Given the description of an element on the screen output the (x, y) to click on. 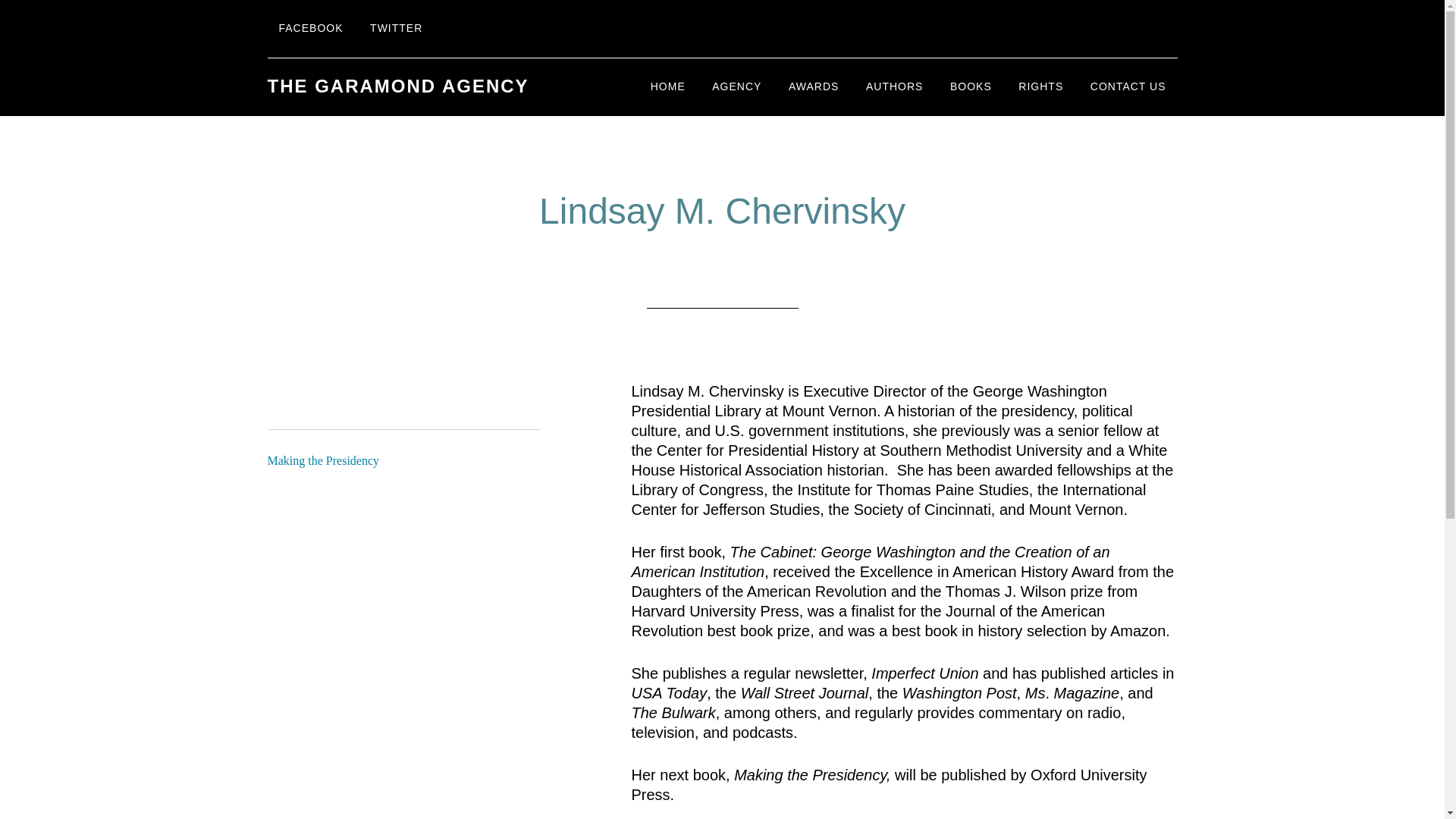
THE GARAMOND AGENCY (397, 86)
CONTACT US (1127, 87)
AUTHORS (894, 87)
FACEBOOK (309, 28)
BOOKS (971, 87)
AWARDS (813, 87)
RIGHTS (1040, 87)
AGENCY (736, 87)
TWITTER (395, 28)
